Given the description of an element on the screen output the (x, y) to click on. 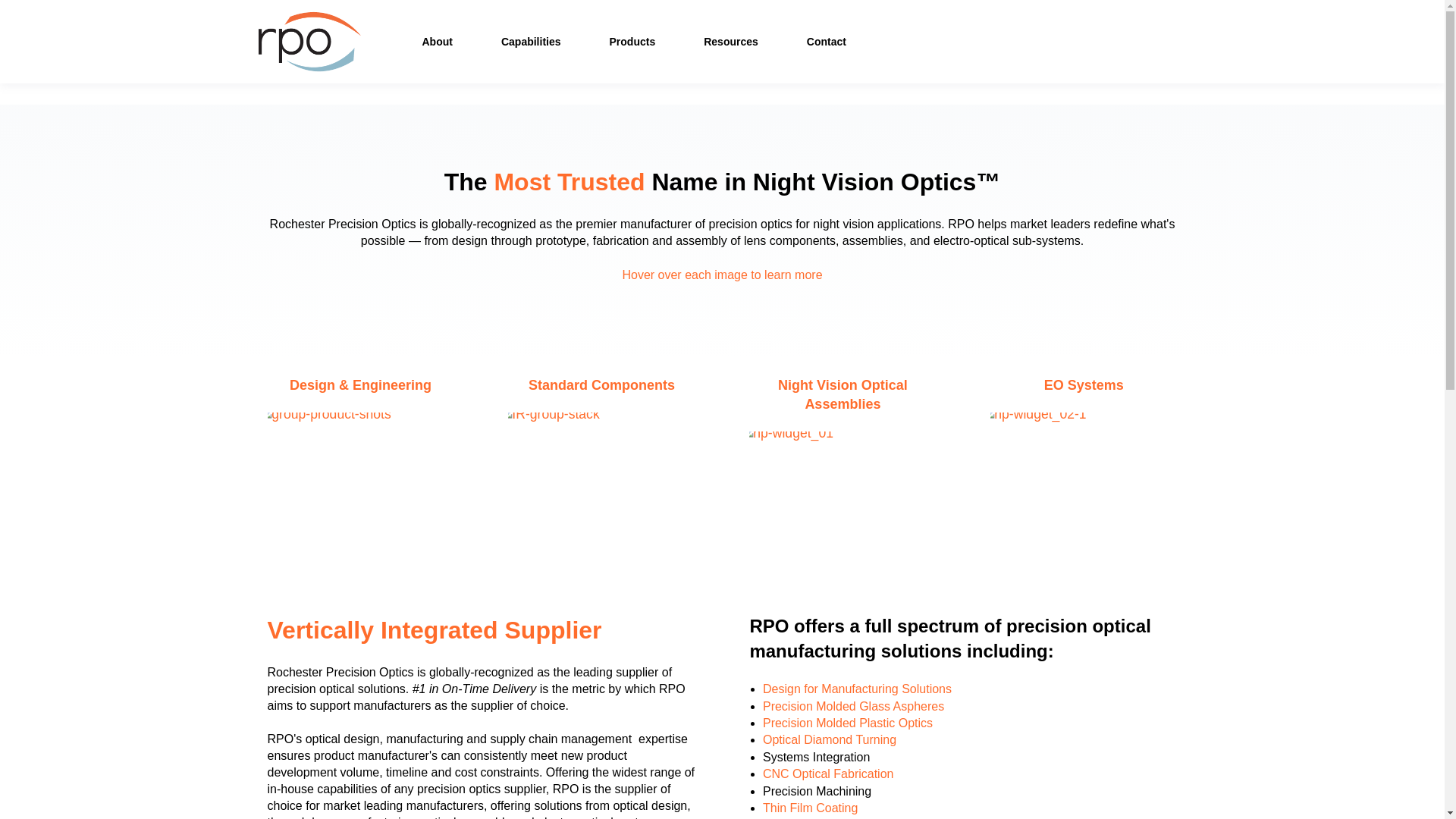
Contact (825, 41)
Products (633, 41)
Resources (730, 41)
Capabilities (530, 41)
About (436, 41)
